Given the description of an element on the screen output the (x, y) to click on. 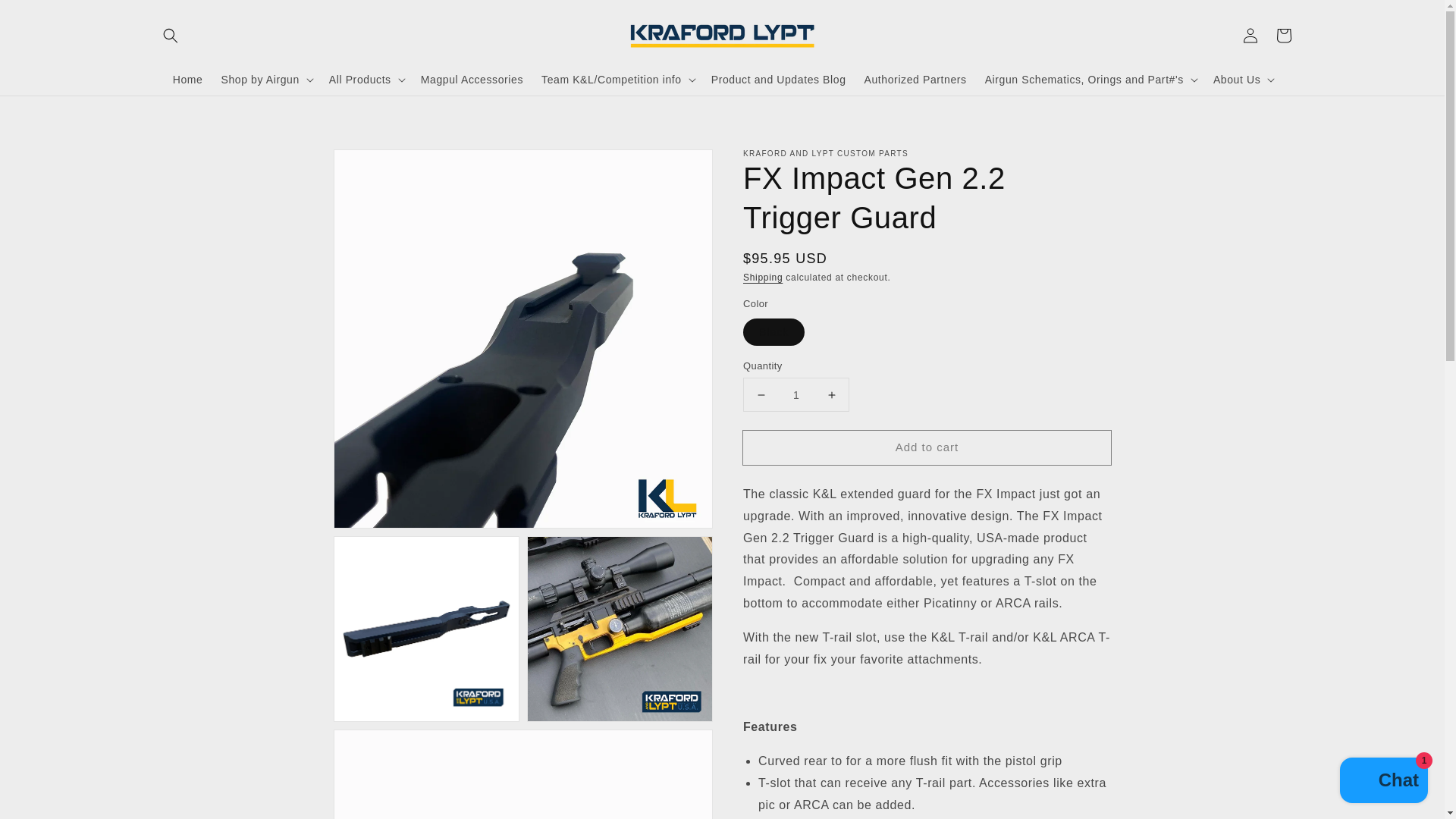
Shopify online store chat (1383, 781)
Skip to content (45, 16)
1 (795, 394)
